Given the description of an element on the screen output the (x, y) to click on. 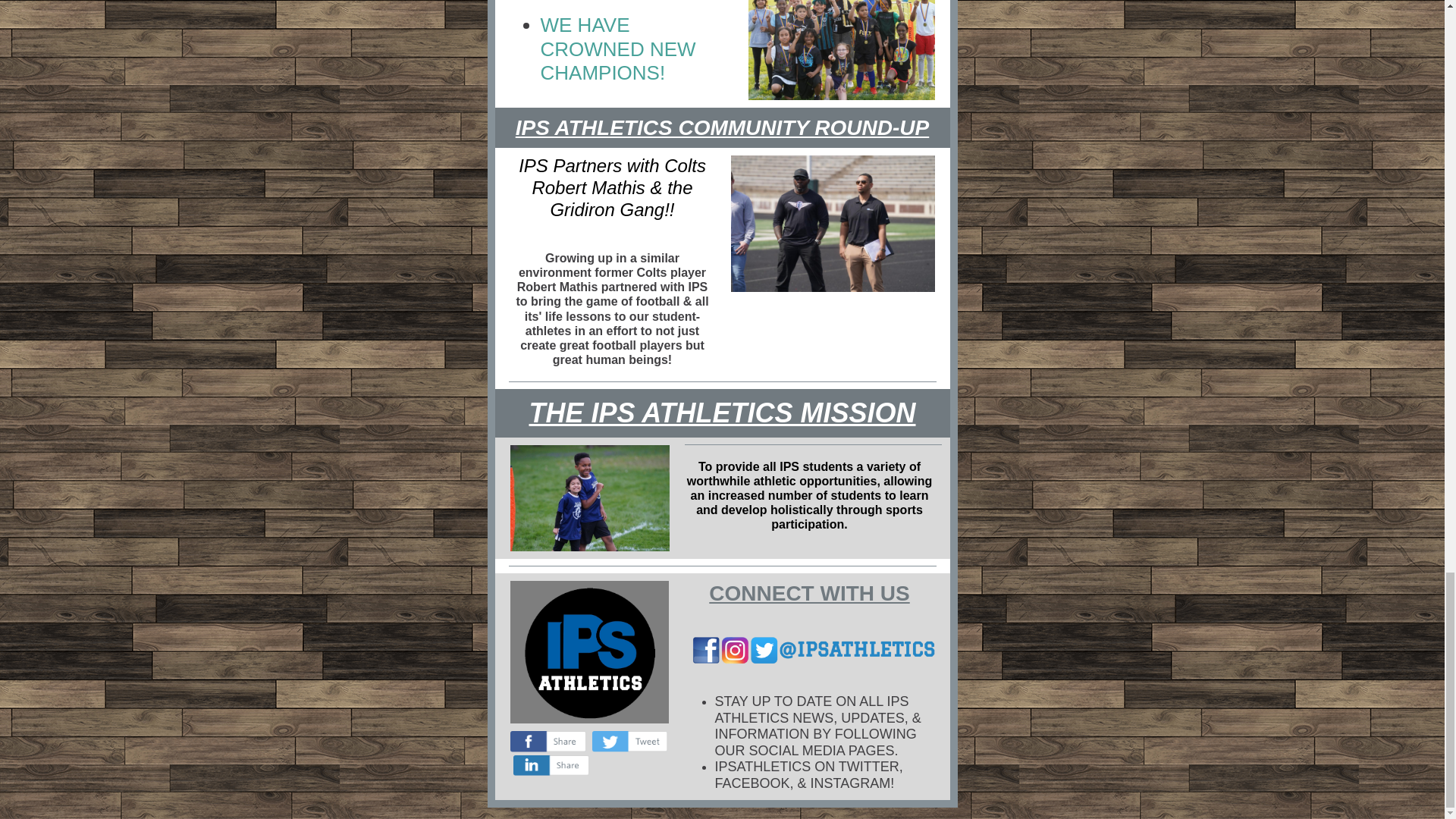
WE HAVE CROWNED NEW CHAMPIONS! (617, 48)
